Given the description of an element on the screen output the (x, y) to click on. 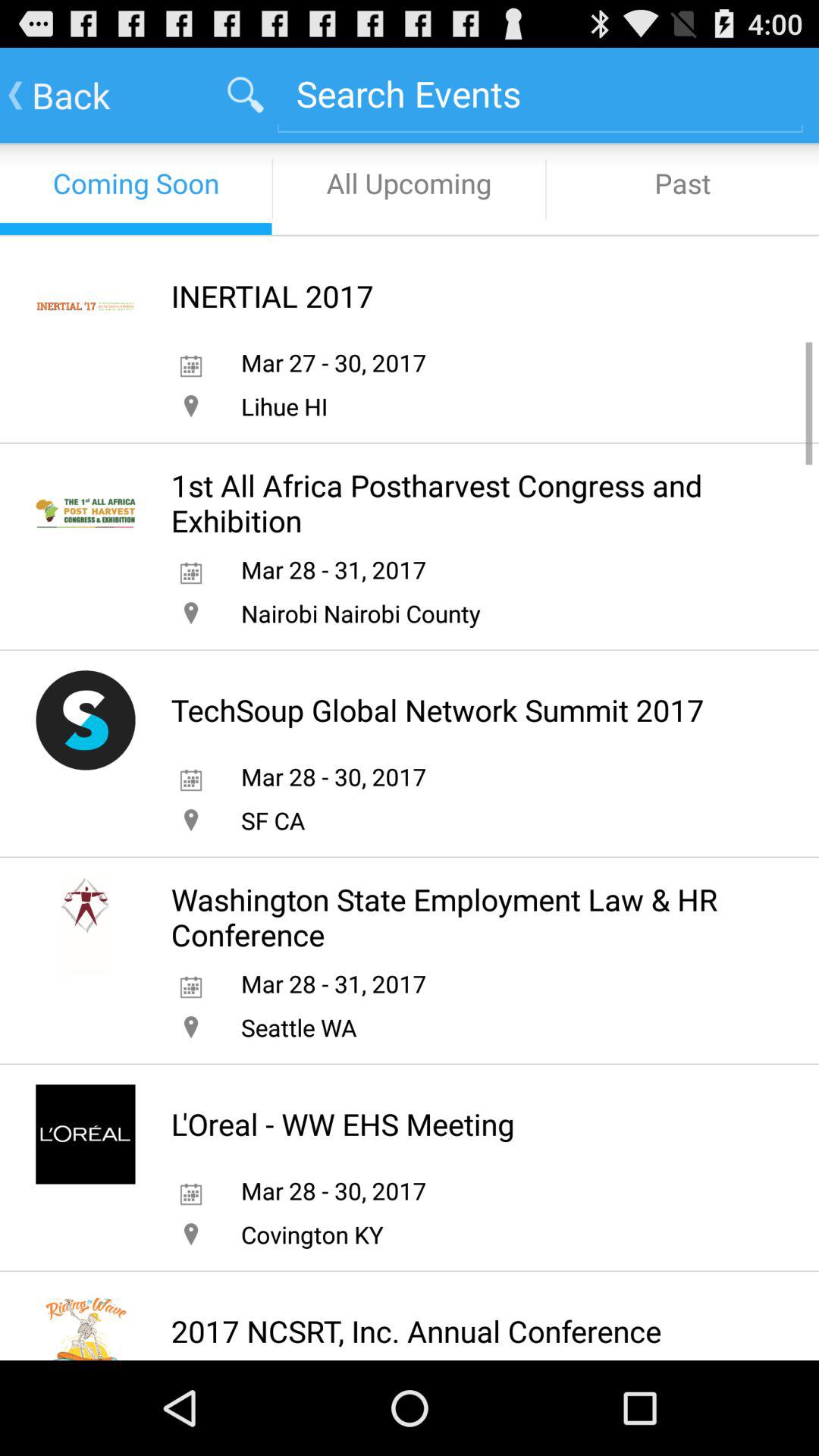
swipe until the sf ca app (272, 820)
